Given the description of an element on the screen output the (x, y) to click on. 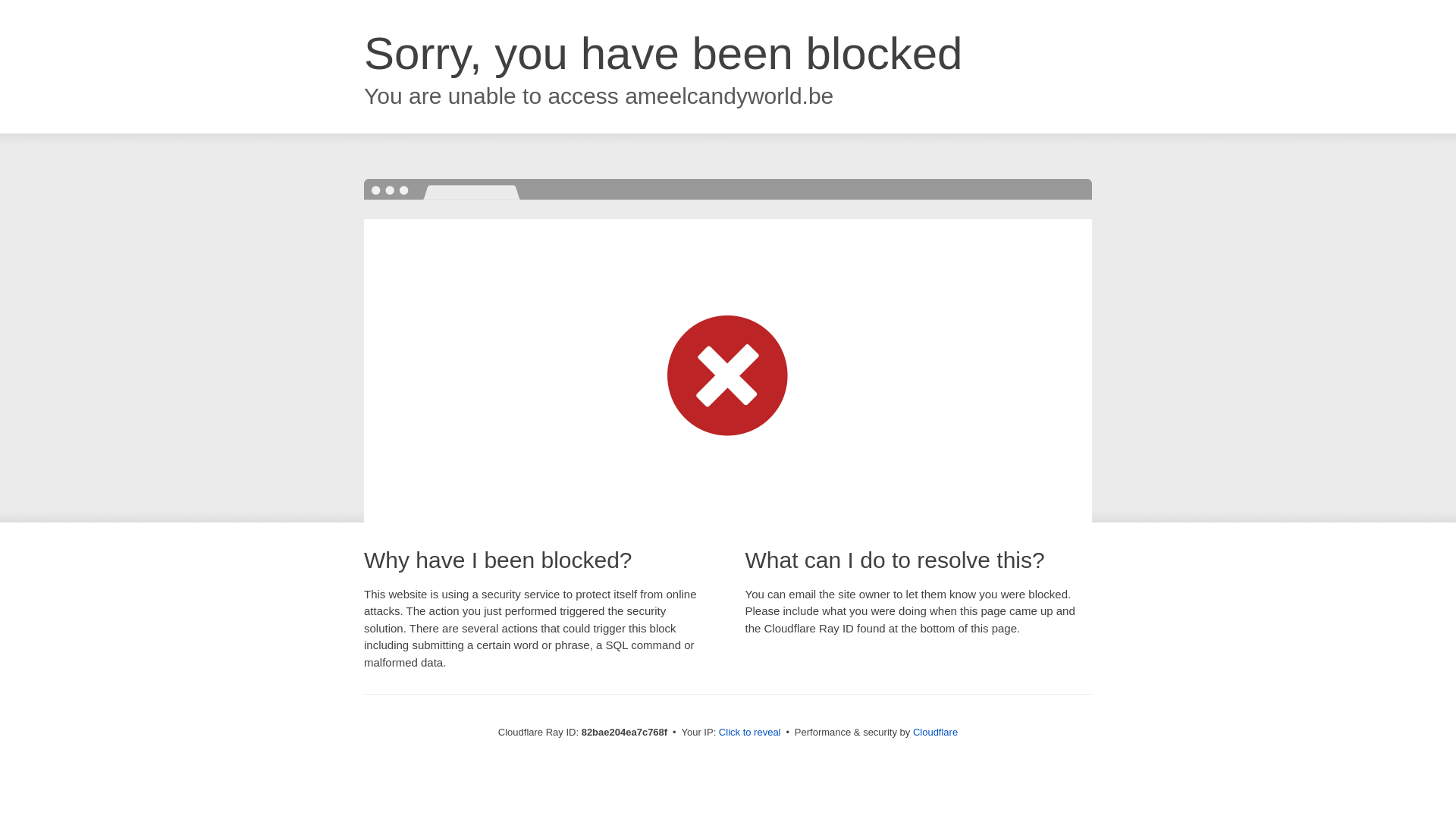
Click to reveal Element type: text (749, 732)
Cloudflare Element type: text (935, 731)
